Given the description of an element on the screen output the (x, y) to click on. 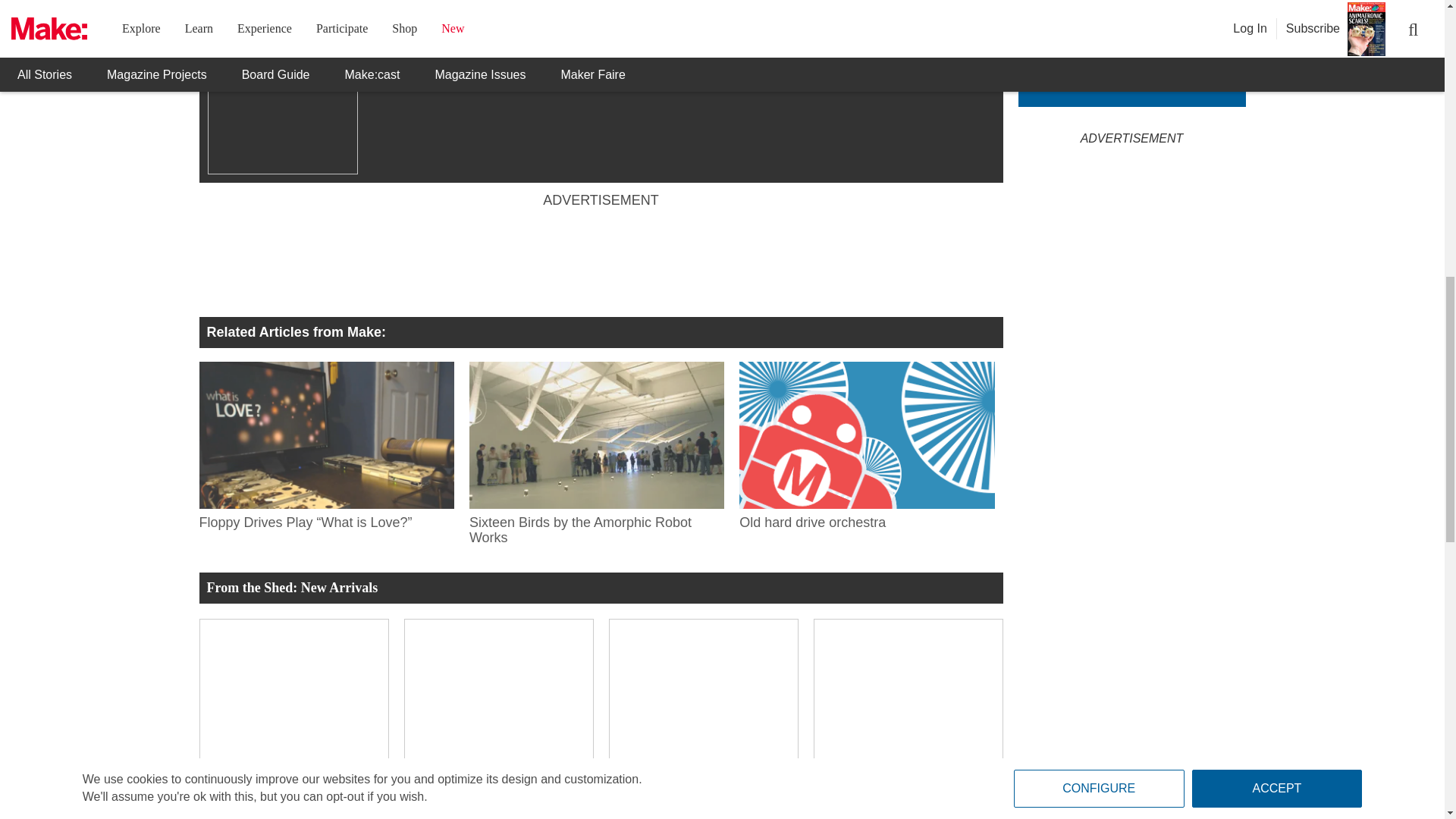
Old hard drive orchestra (866, 518)
Sixteen Birds by the Amorphic Robot Works (595, 434)
3rd party ad content (600, 258)
Old hard drive orchestra (866, 434)
Sixteen Birds by the Amorphic Robot Works (595, 526)
